Given the description of an element on the screen output the (x, y) to click on. 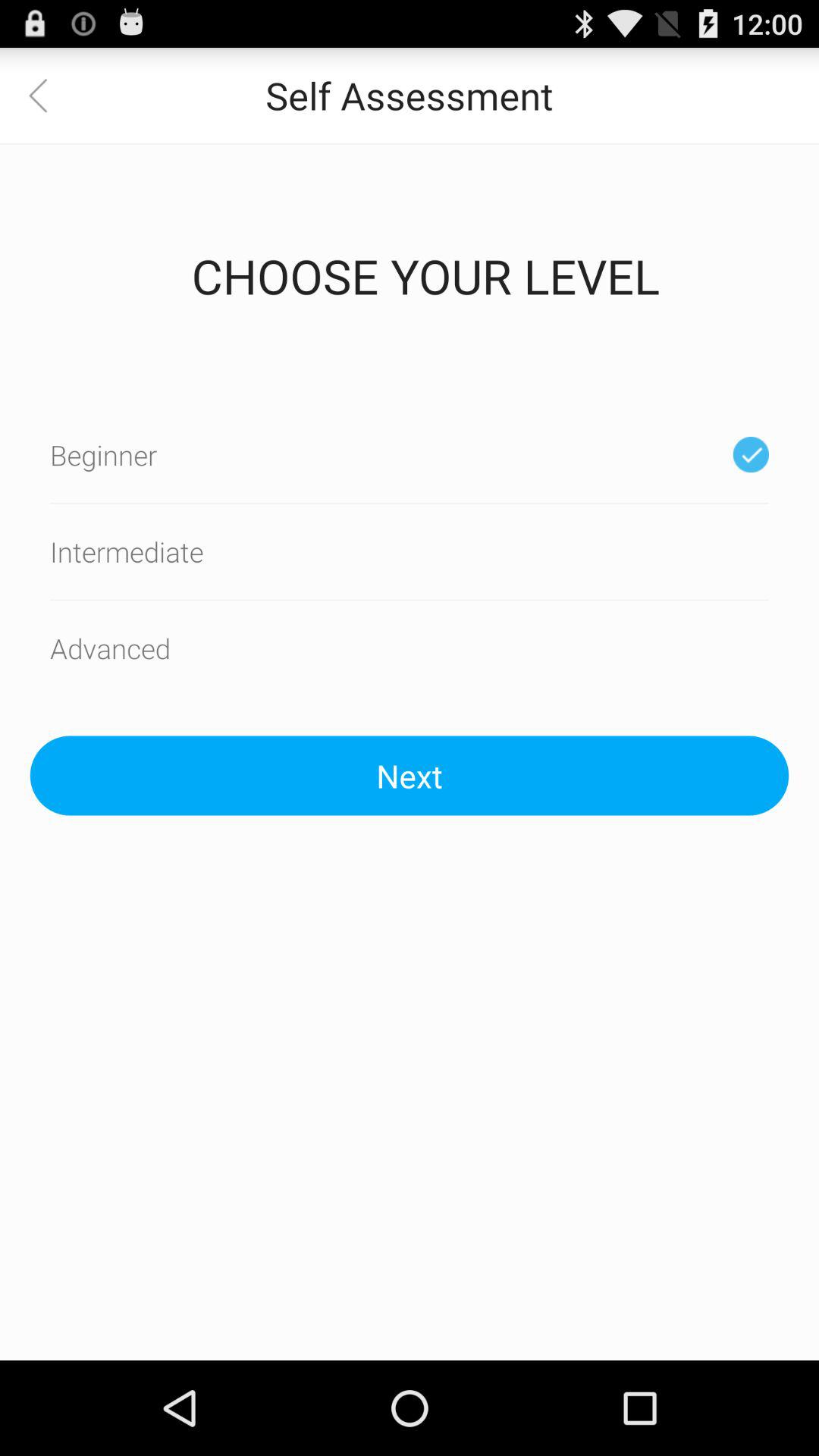
choose app to the left of the self assessment (47, 95)
